Given the description of an element on the screen output the (x, y) to click on. 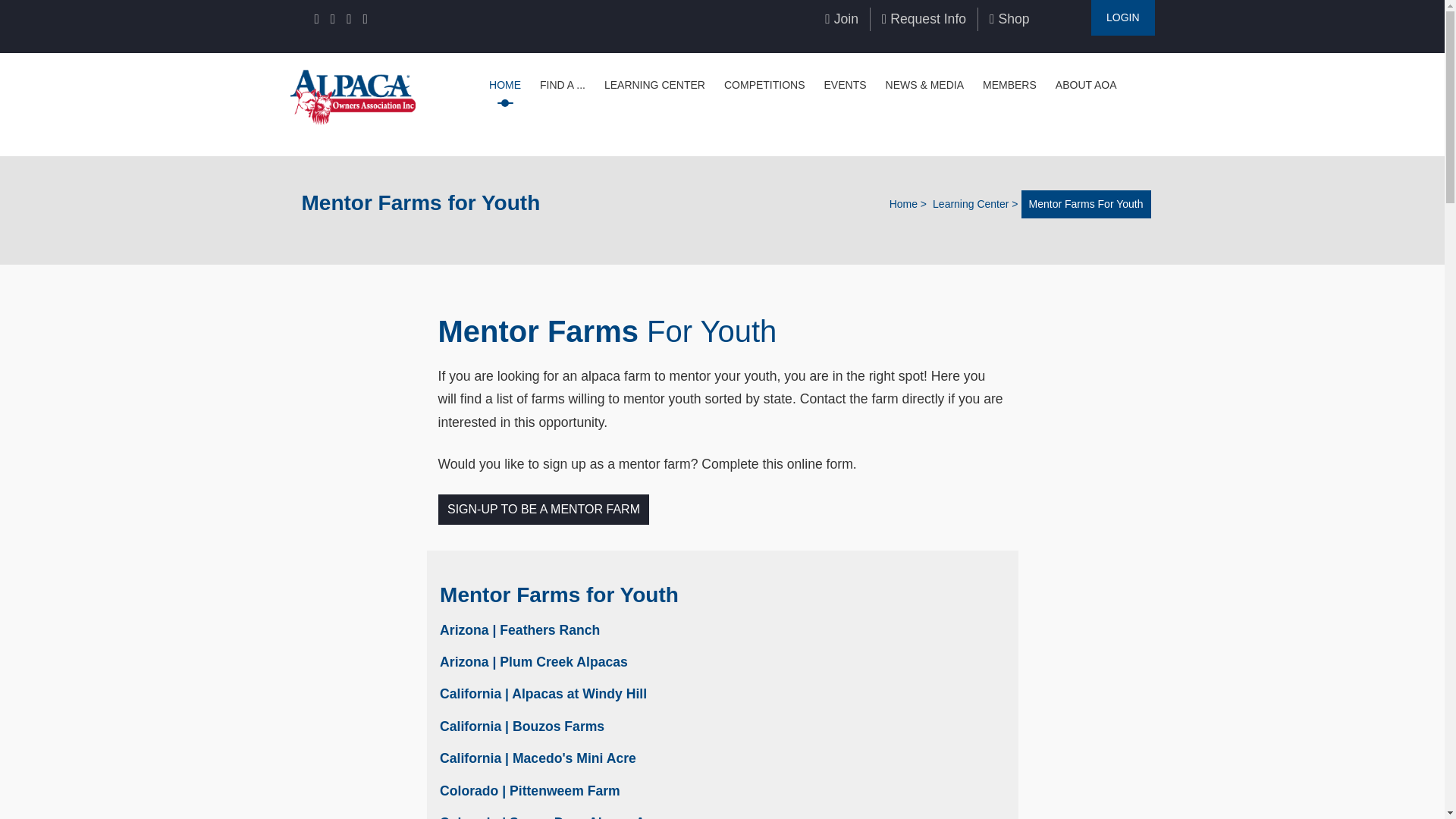
Request Info (924, 18)
Member Dashboard (1122, 18)
Join Alpaca Owners Association (842, 18)
Request Information on Alpacas (924, 18)
Shop (1009, 18)
Alpaca Owners Association, Inc. (351, 95)
Join (842, 18)
LOGIN (1122, 18)
